Given the description of an element on the screen output the (x, y) to click on. 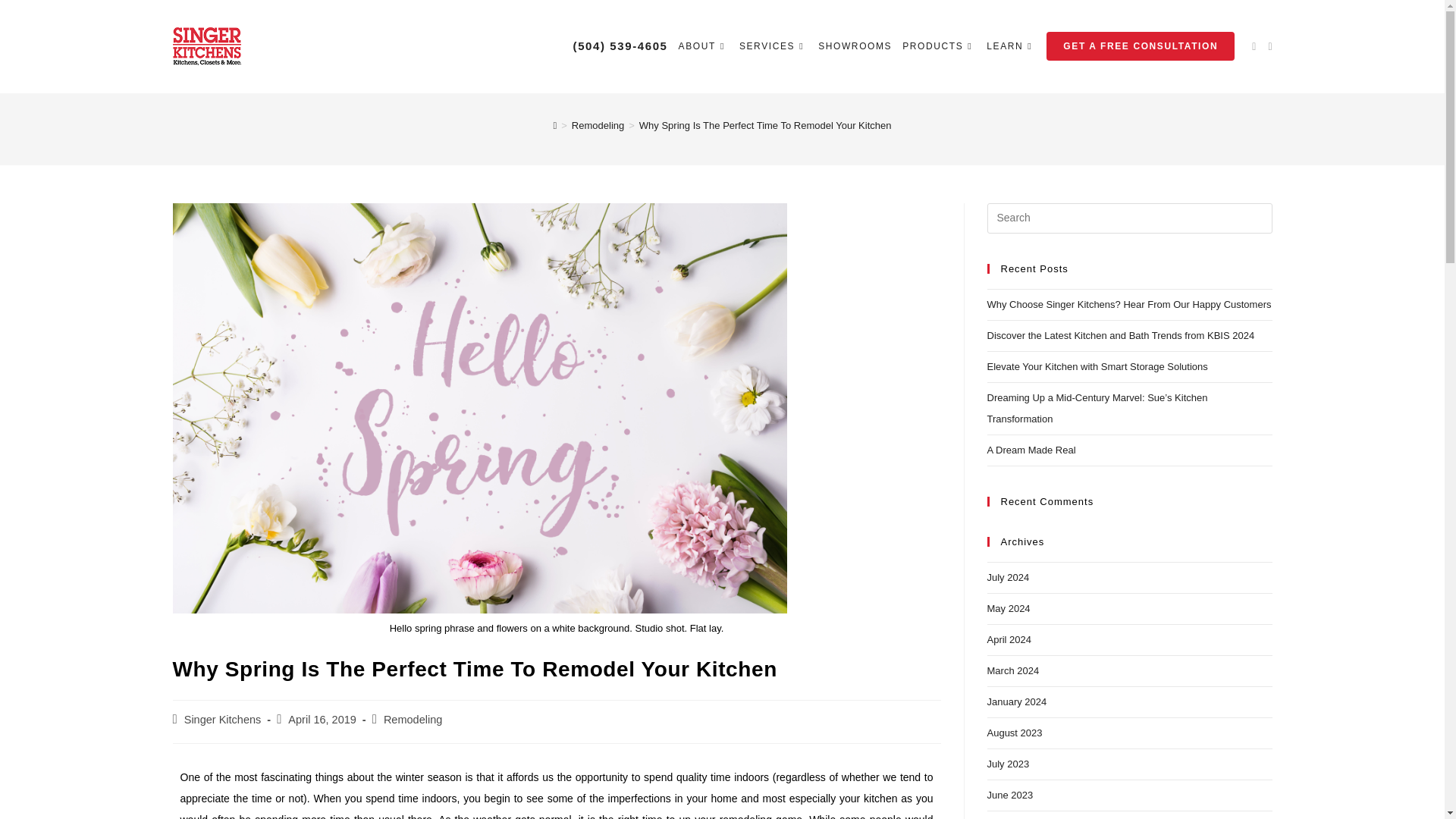
PRODUCTS (938, 46)
Remodeling (413, 719)
Remodeling (598, 125)
Singer Kitchens (223, 719)
Posts by Singer Kitchens (223, 719)
GET A FREE CONSULTATION (1140, 46)
SHOWROOMS (854, 46)
Why Spring Is The Perfect Time To Remodel Your Kitchen (765, 125)
